Given the description of an element on the screen output the (x, y) to click on. 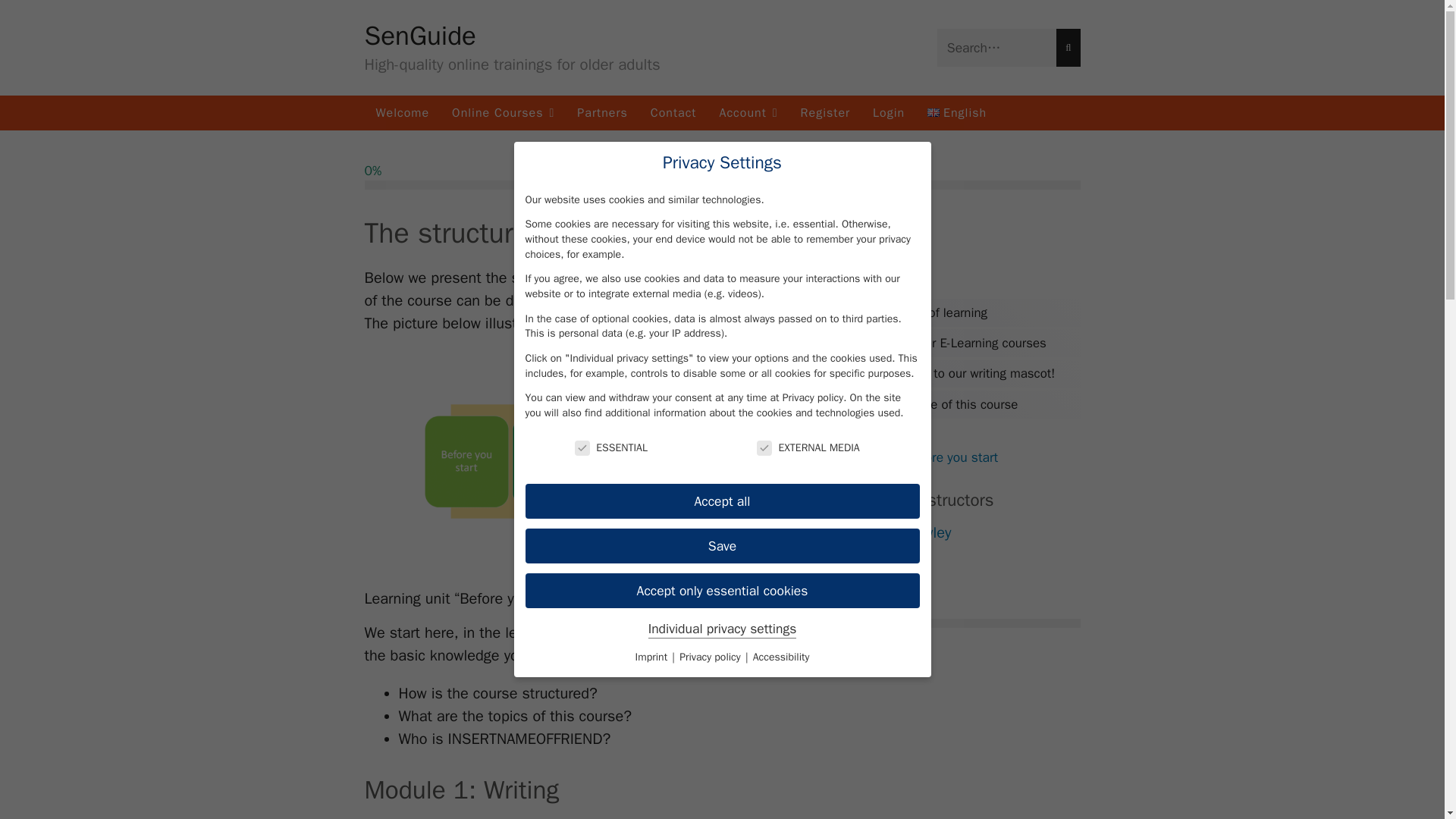
Cathy Fowley (968, 532)
Online Courses (503, 112)
Before you start (951, 457)
Login (888, 112)
Partners (602, 112)
Welcome (402, 112)
Account (748, 112)
Register (825, 112)
English (956, 112)
